Given the description of an element on the screen output the (x, y) to click on. 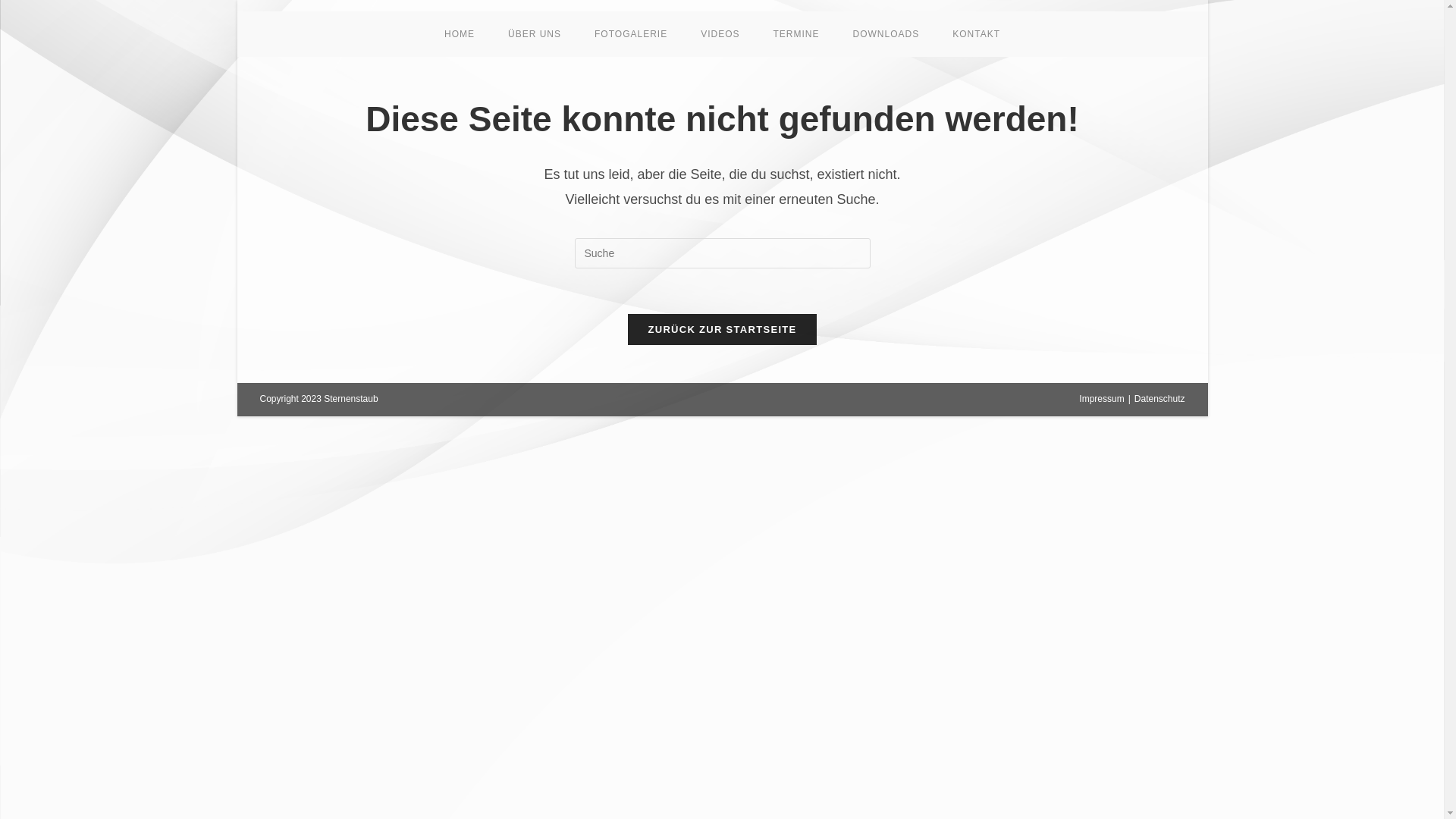
Impressum Element type: text (1101, 398)
Datenschutz Element type: text (1159, 398)
DOWNLOADS Element type: text (886, 33)
TERMINE Element type: text (796, 33)
KONTAKT Element type: text (975, 33)
VIDEOS Element type: text (720, 33)
FOTOGALERIE Element type: text (630, 33)
HOME Element type: text (459, 33)
